Given the description of an element on the screen output the (x, y) to click on. 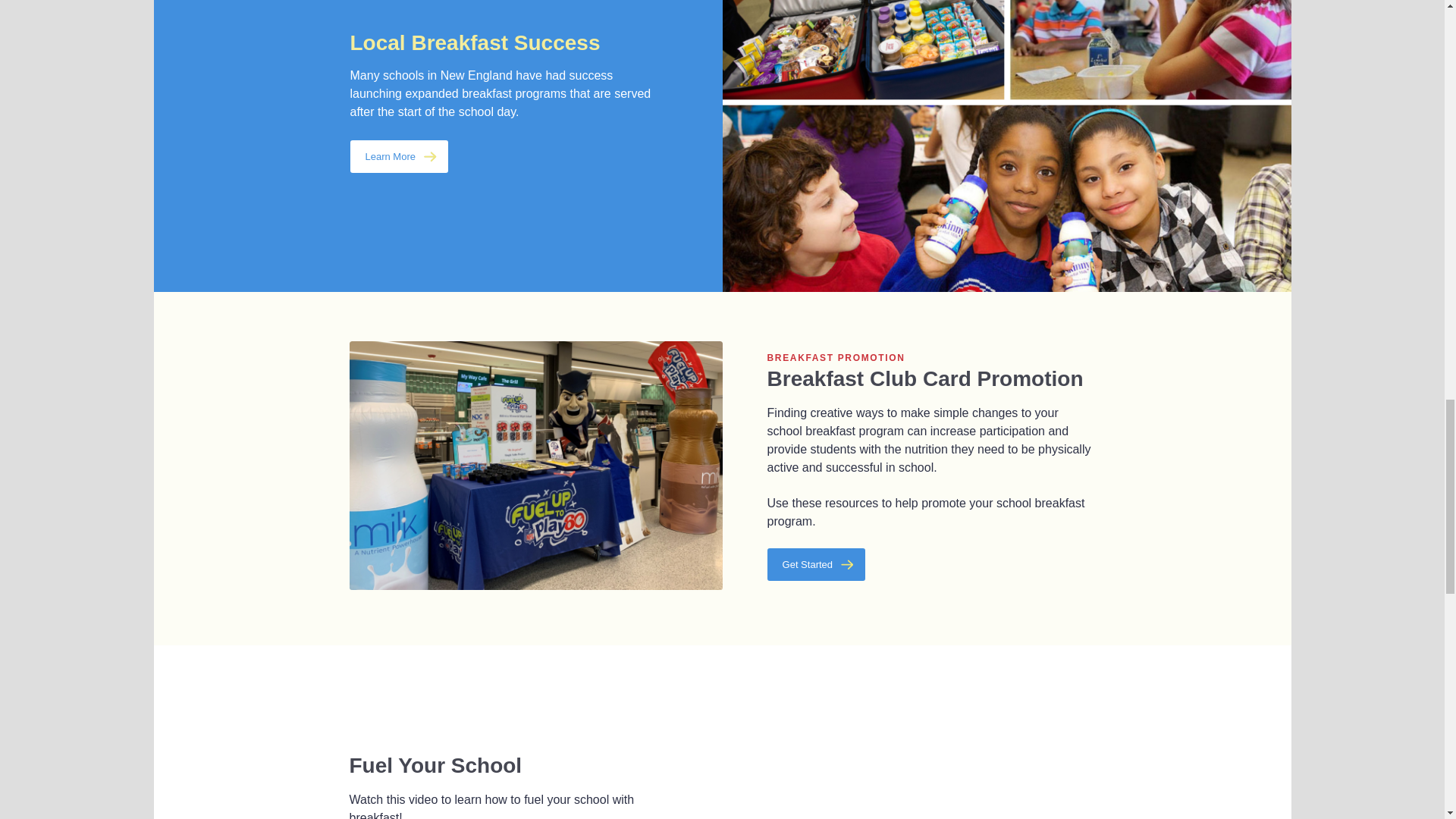
Learn More (399, 156)
Get Started (815, 563)
Fuel Your School with Breakfast! (908, 756)
